Given the description of an element on the screen output the (x, y) to click on. 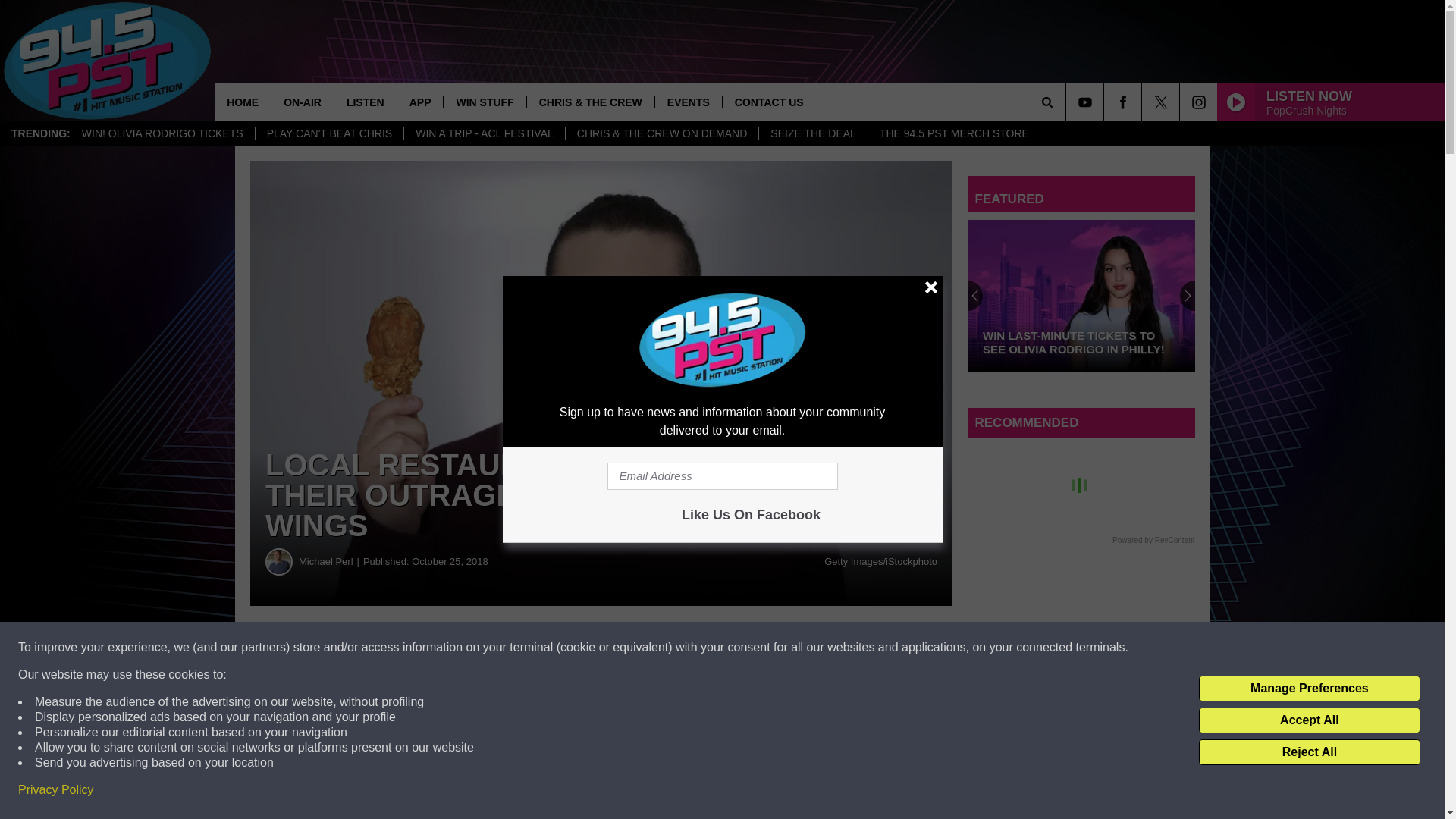
HOME (242, 102)
Email Address (722, 475)
WIN! OLIVIA RODRIGO TICKETS (161, 133)
Privacy Policy (55, 789)
Share on Facebook (413, 647)
SEARCH (1068, 102)
Manage Preferences (1309, 688)
Accept All (1309, 720)
THE 94.5 PST MERCH STORE (954, 133)
SEARCH (1068, 102)
SEIZE THE DEAL (812, 133)
WIN STUFF (483, 102)
Share on Twitter (600, 647)
WIN A TRIP - ACL FESTIVAL (483, 133)
APP (420, 102)
